Given the description of an element on the screen output the (x, y) to click on. 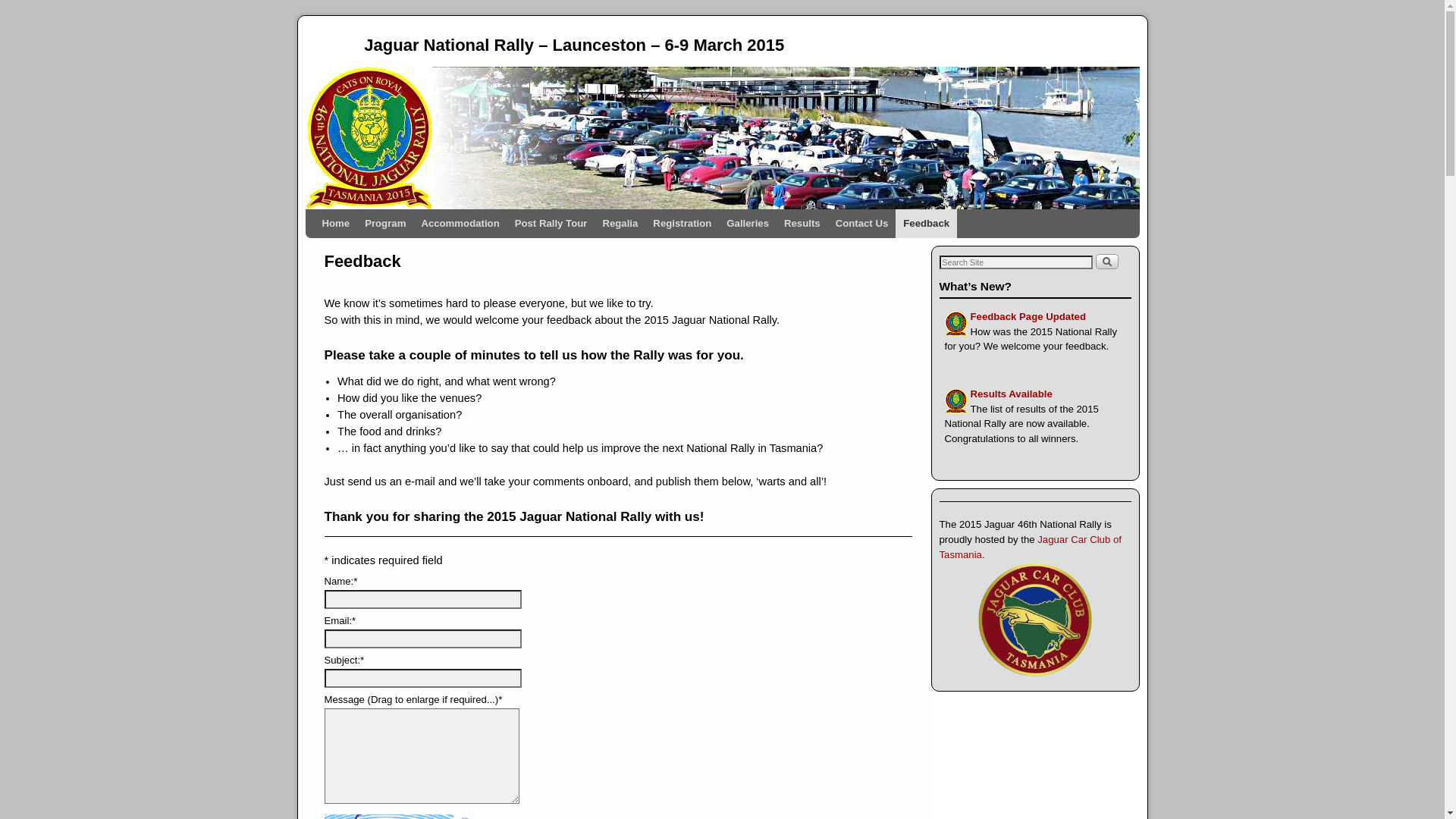
Results Element type: text (802, 223)
Registration Element type: text (681, 223)
Galleries Element type: text (747, 223)
Contact Us Element type: text (862, 223)
Regalia Element type: text (619, 223)
Jaguar Car Club of Tasmania. Element type: text (1029, 546)
Accommodation Element type: text (459, 223)
Feedback Element type: text (926, 223)
Skip to secondary content Element type: text (352, 215)
Post Rally Tour Element type: text (551, 223)
Program Element type: text (385, 223)
Skip to primary content Element type: text (347, 215)
Home Element type: text (335, 223)
